Given the description of an element on the screen output the (x, y) to click on. 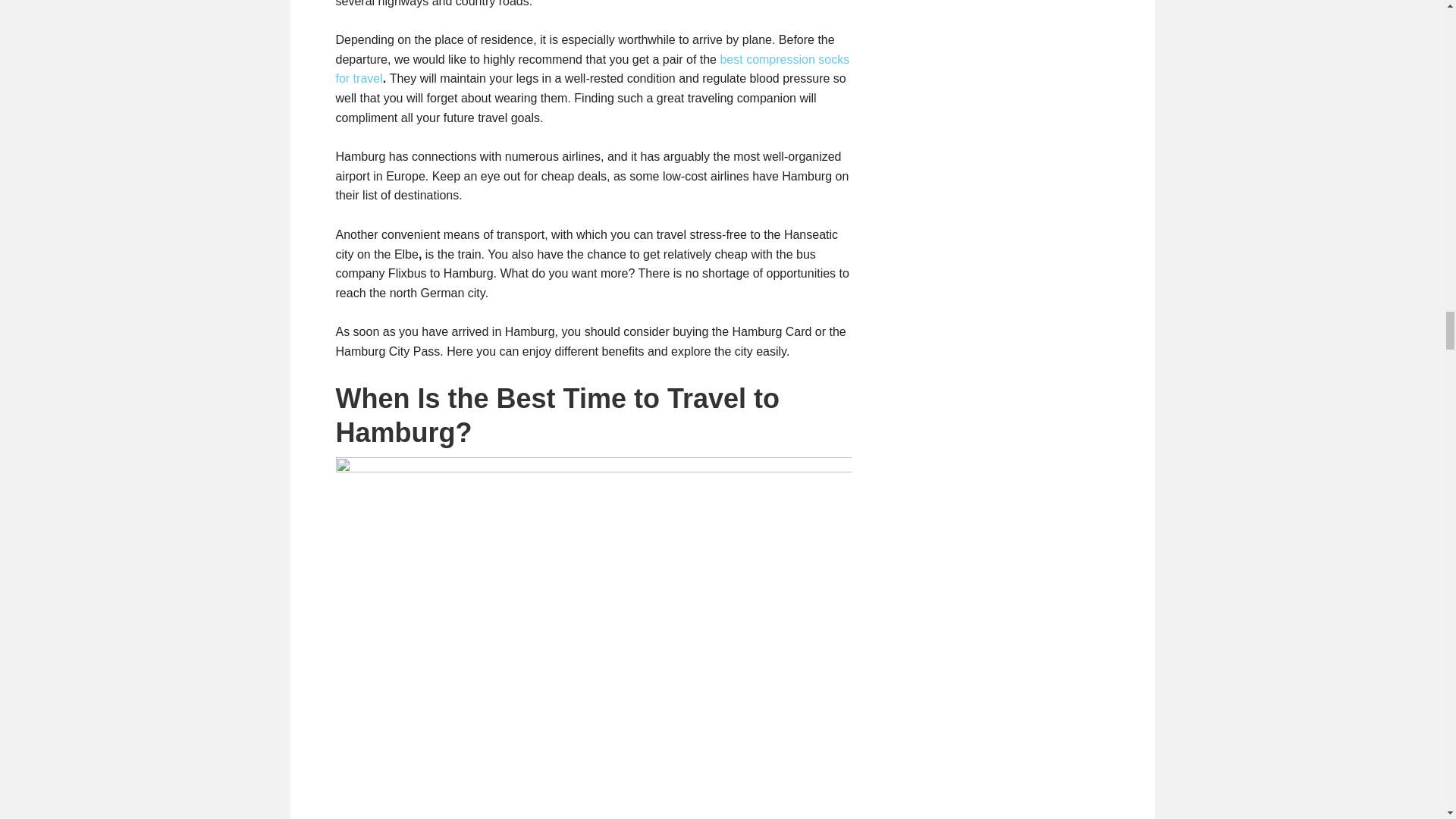
best compression socks for travel (591, 69)
